Given the description of an element on the screen output the (x, y) to click on. 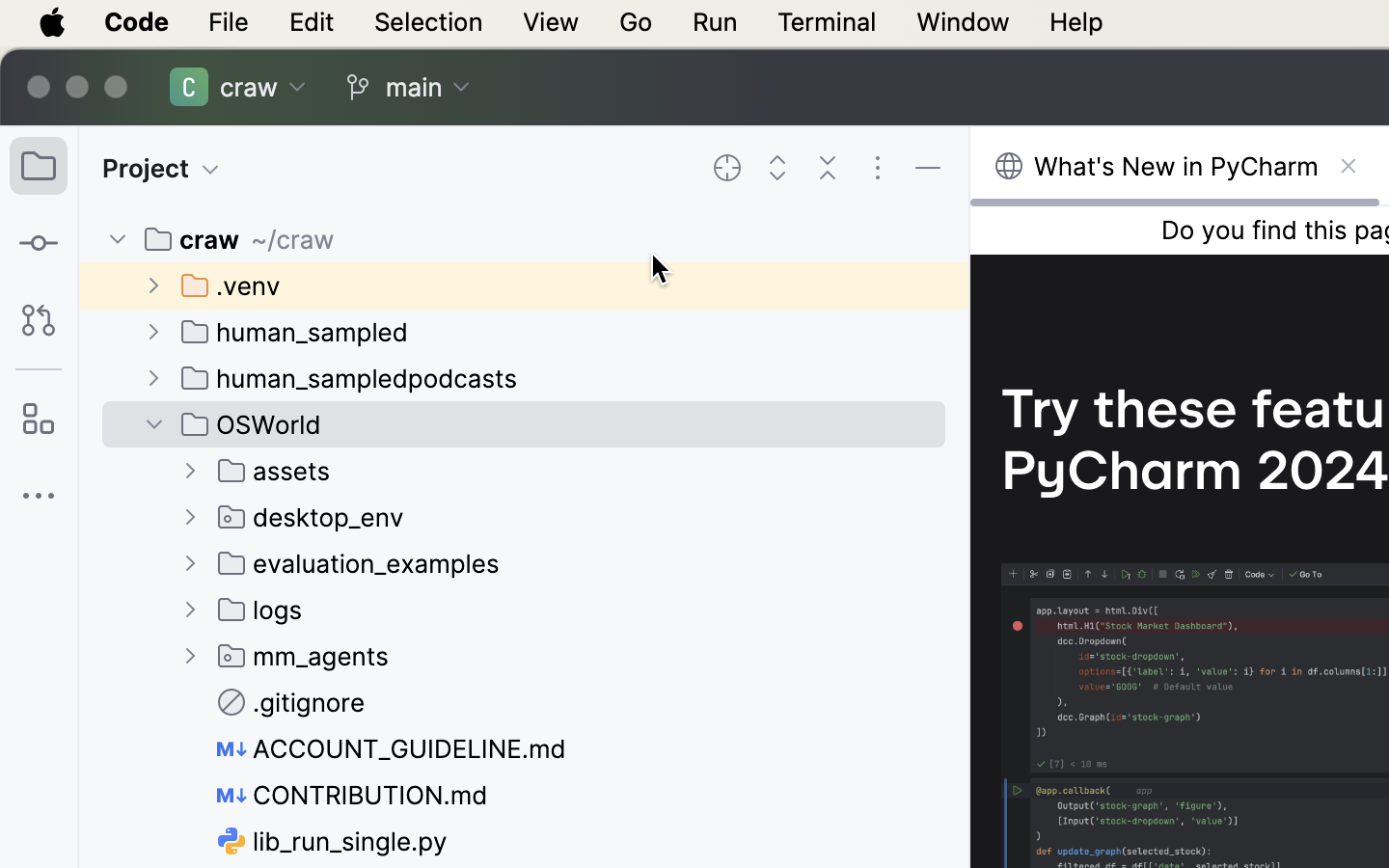
logs Element type: AXStaticText (260, 609)
ACCOUNT_GUIDELINE.md Element type: AXStaticText (392, 748)
desktop_env Element type: AXStaticText (311, 516)
human_sampled Element type: AXStaticText (294, 331)
evaluation_examples Element type: AXStaticText (358, 563)
